Given the description of an element on the screen output the (x, y) to click on. 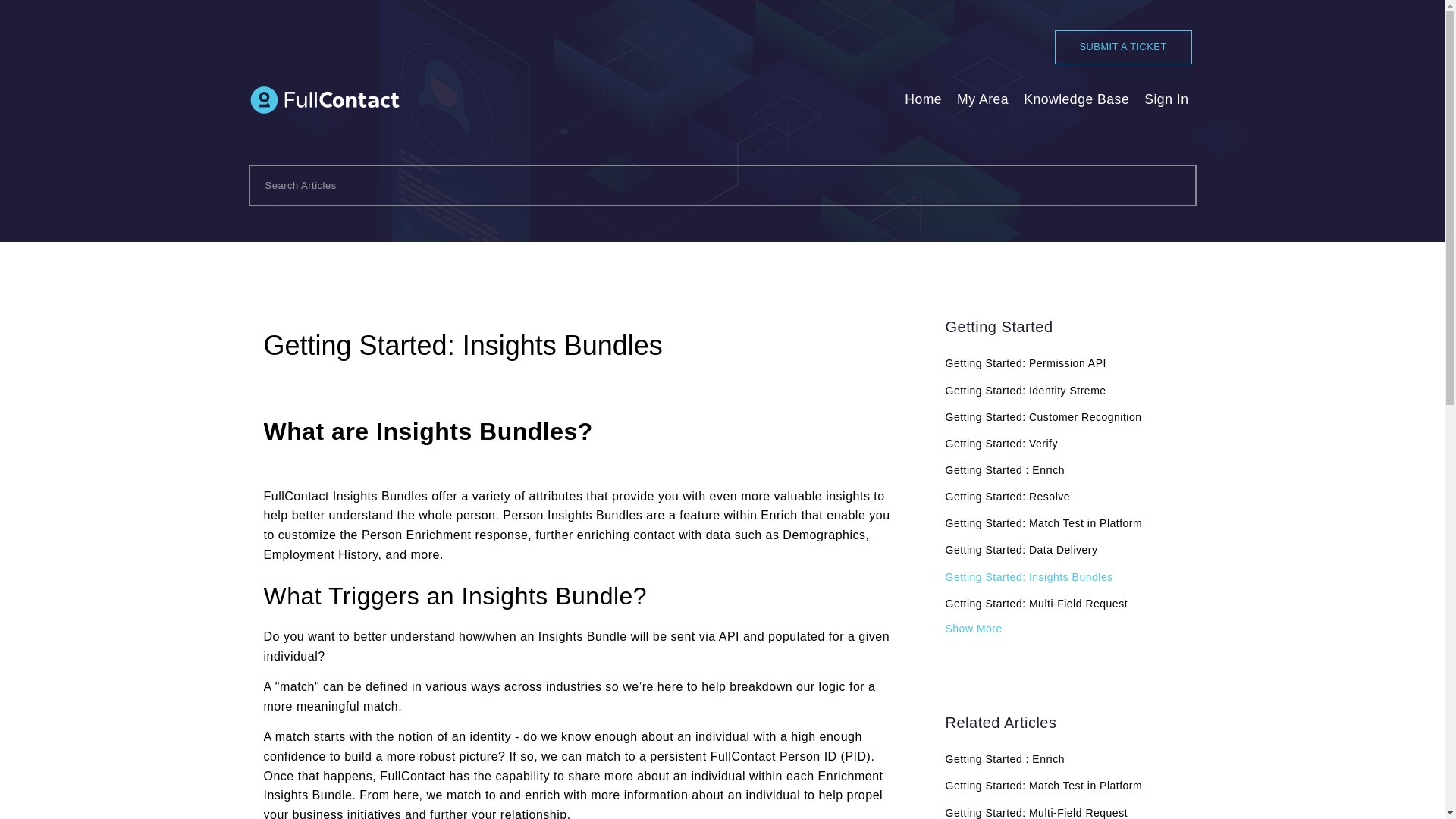
Getting Started: Insights Bundles (1062, 576)
My Area (982, 99)
Home (923, 99)
Getting Started: Multi-Field Request (1062, 603)
Getting Started : Enrich (1062, 759)
Getting Started: Match Test in Platform (1062, 523)
Getting Started: Identity Streme (1062, 390)
Show More (972, 628)
Sign In (1166, 99)
Knowledge Base (1076, 99)
Getting Started: Verify (1062, 443)
Getting Started: Permission API (1062, 362)
Home (923, 99)
SUBMIT A TICKET (1123, 47)
Getting Started: Resolve (1062, 496)
